Given the description of an element on the screen output the (x, y) to click on. 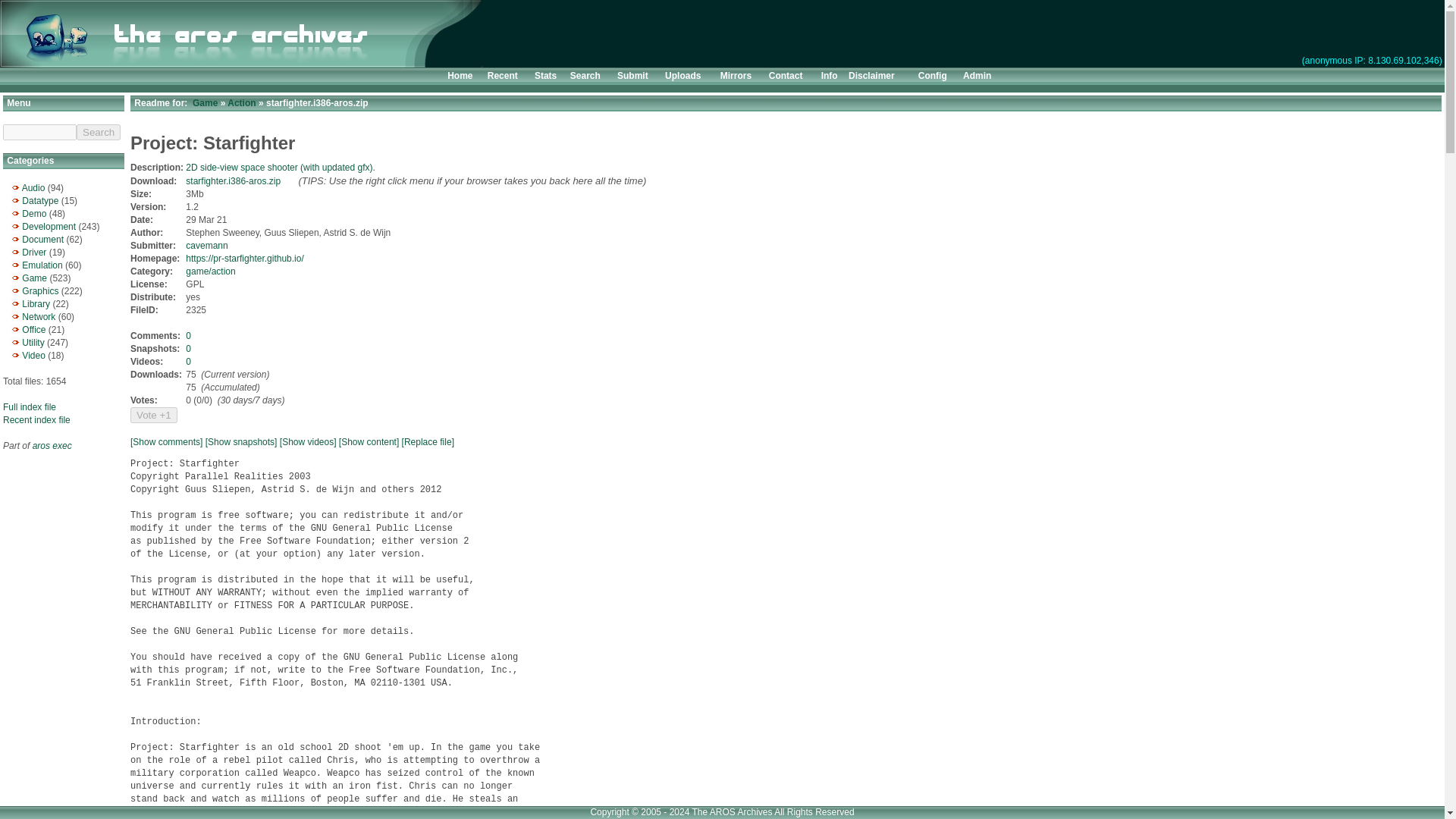
Action (241, 102)
Search (584, 75)
Library (35, 303)
Full index file (29, 407)
Network (38, 317)
Emulation (41, 265)
Office (33, 329)
starfighter.i386-aros.zip (233, 181)
Game (33, 277)
aros exec (51, 445)
